Given the description of an element on the screen output the (x, y) to click on. 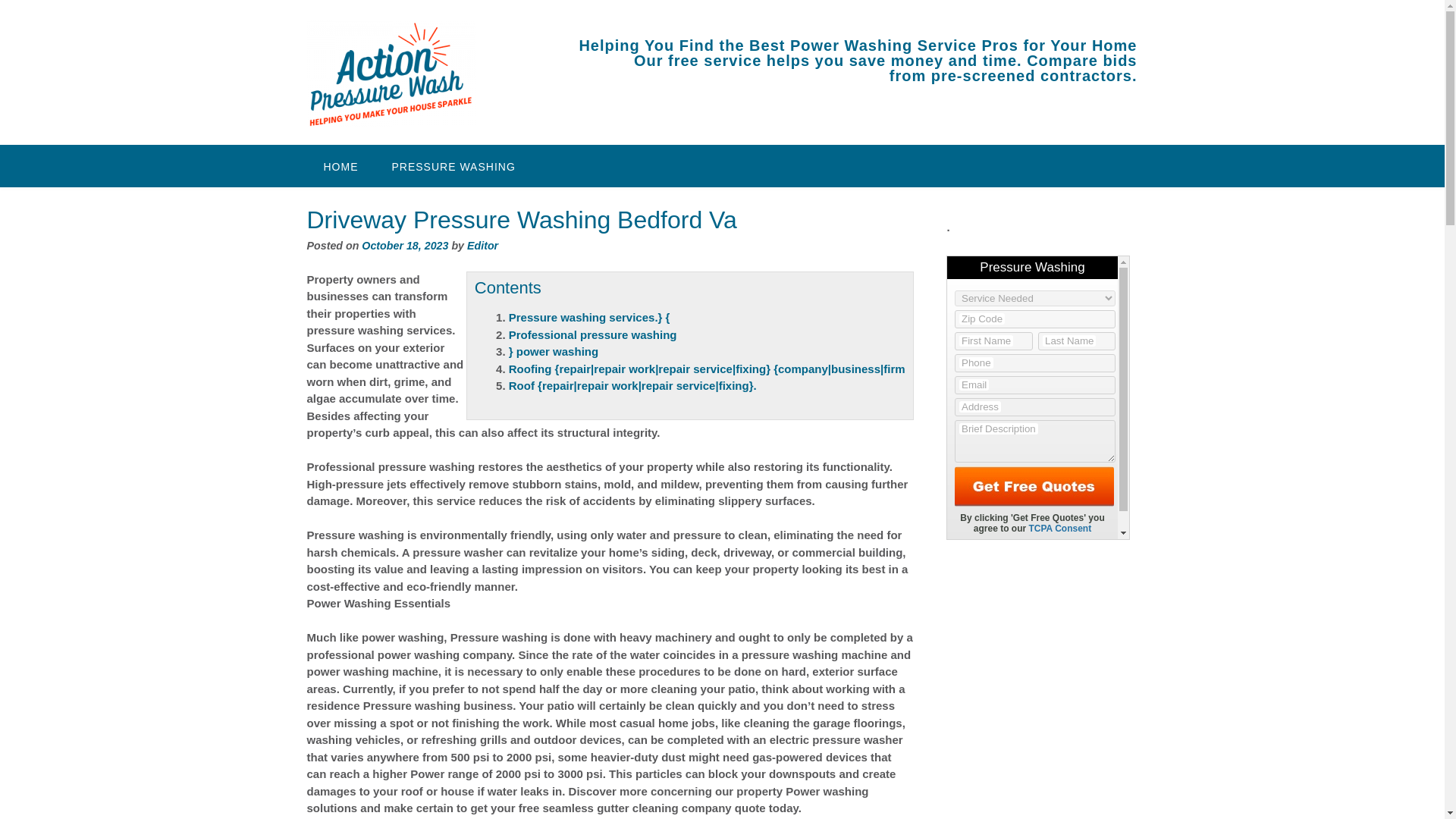
PRESSURE WASHING (452, 165)
Editor (482, 245)
Professional pressure washing (592, 334)
October 18, 2023 (404, 245)
HOME (339, 165)
